Given the description of an element on the screen output the (x, y) to click on. 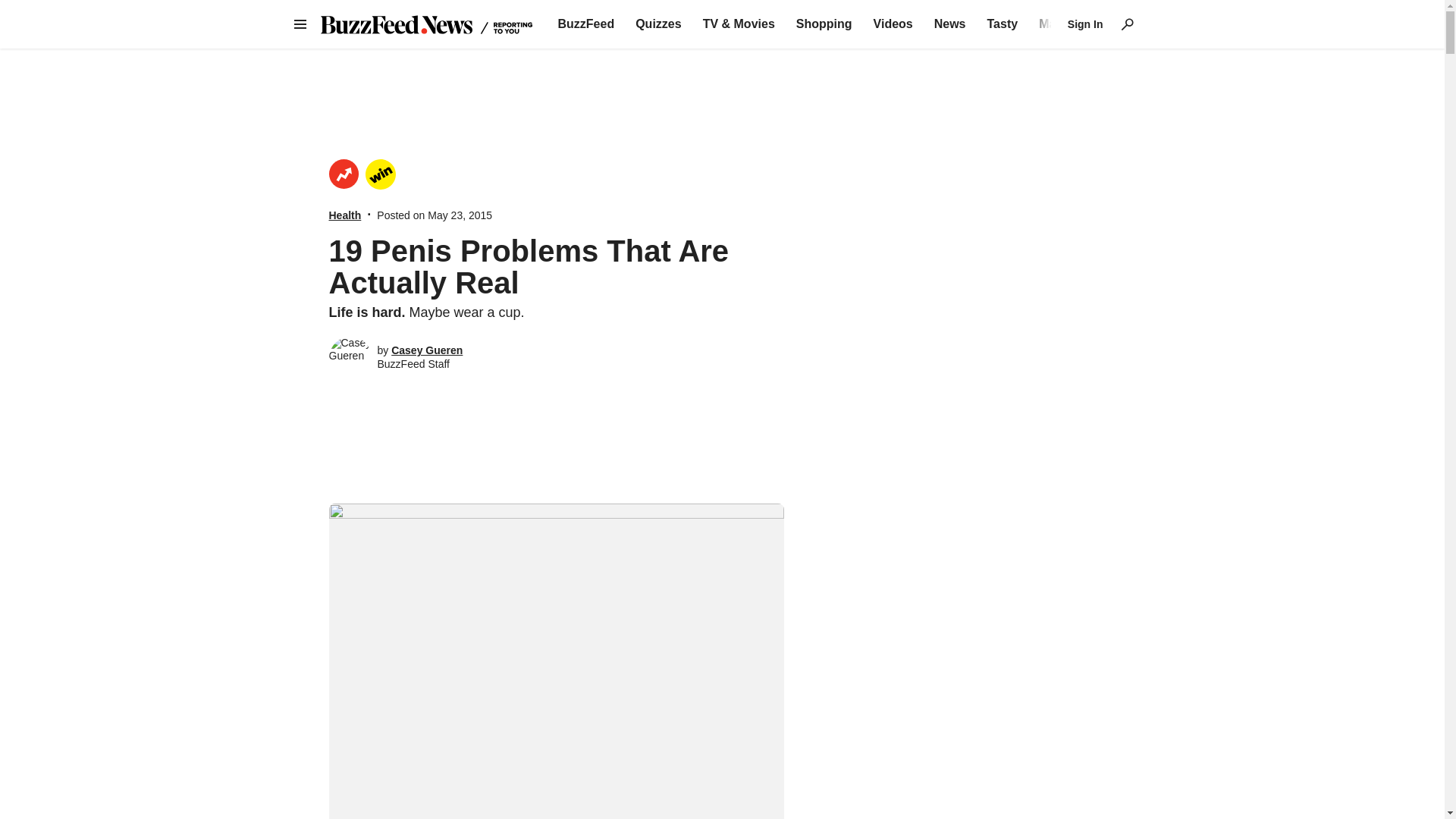
Quizzes (657, 24)
Sign In (1085, 23)
Shopping (823, 24)
Make a Quiz (1073, 24)
News (950, 24)
Tasty (1002, 24)
Videos (892, 24)
BuzzFeed (585, 24)
